Given the description of an element on the screen output the (x, y) to click on. 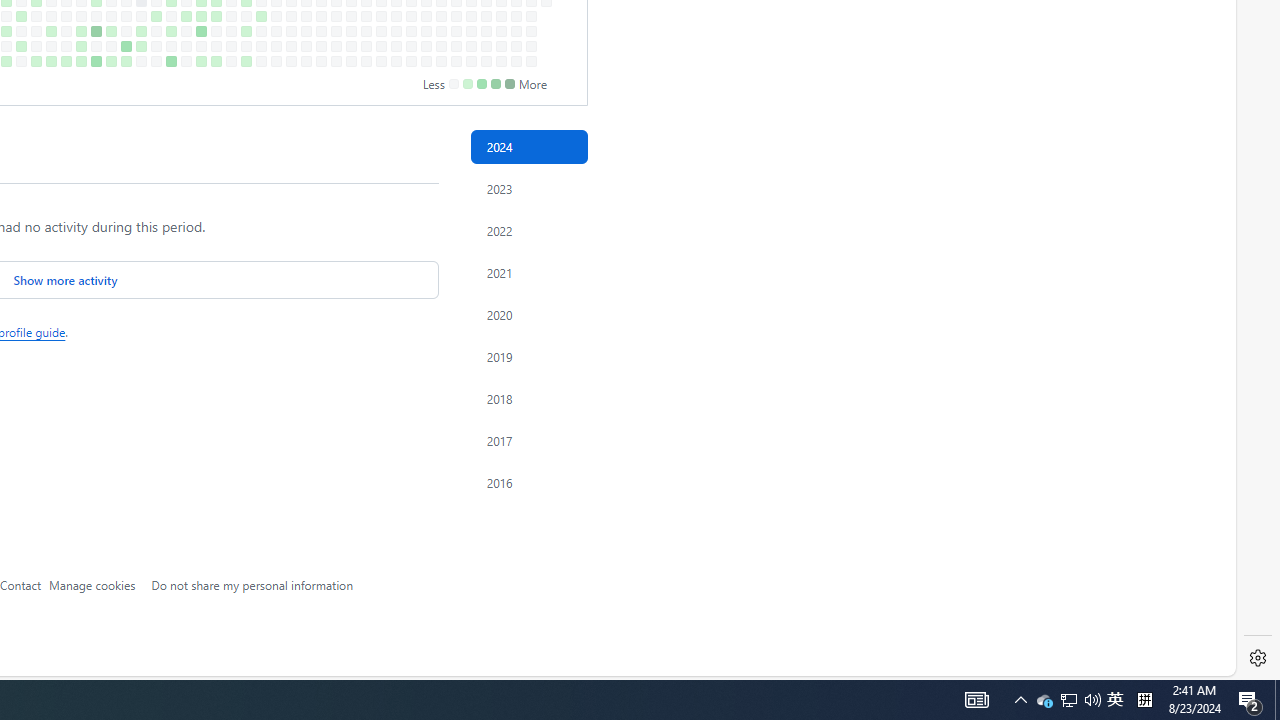
Contribution activity in 2024 (528, 147)
No contributions on November 30th. (471, 61)
No contributions on November 16th. (441, 61)
No contributions on July 6th. (156, 61)
No contributions on September 21st. (321, 61)
No contributions on December 6th. (486, 46)
No contributions on December 27th. (531, 46)
No contributions on December 20th. (516, 46)
4 contributions on July 13th. (171, 61)
